Given the description of an element on the screen output the (x, y) to click on. 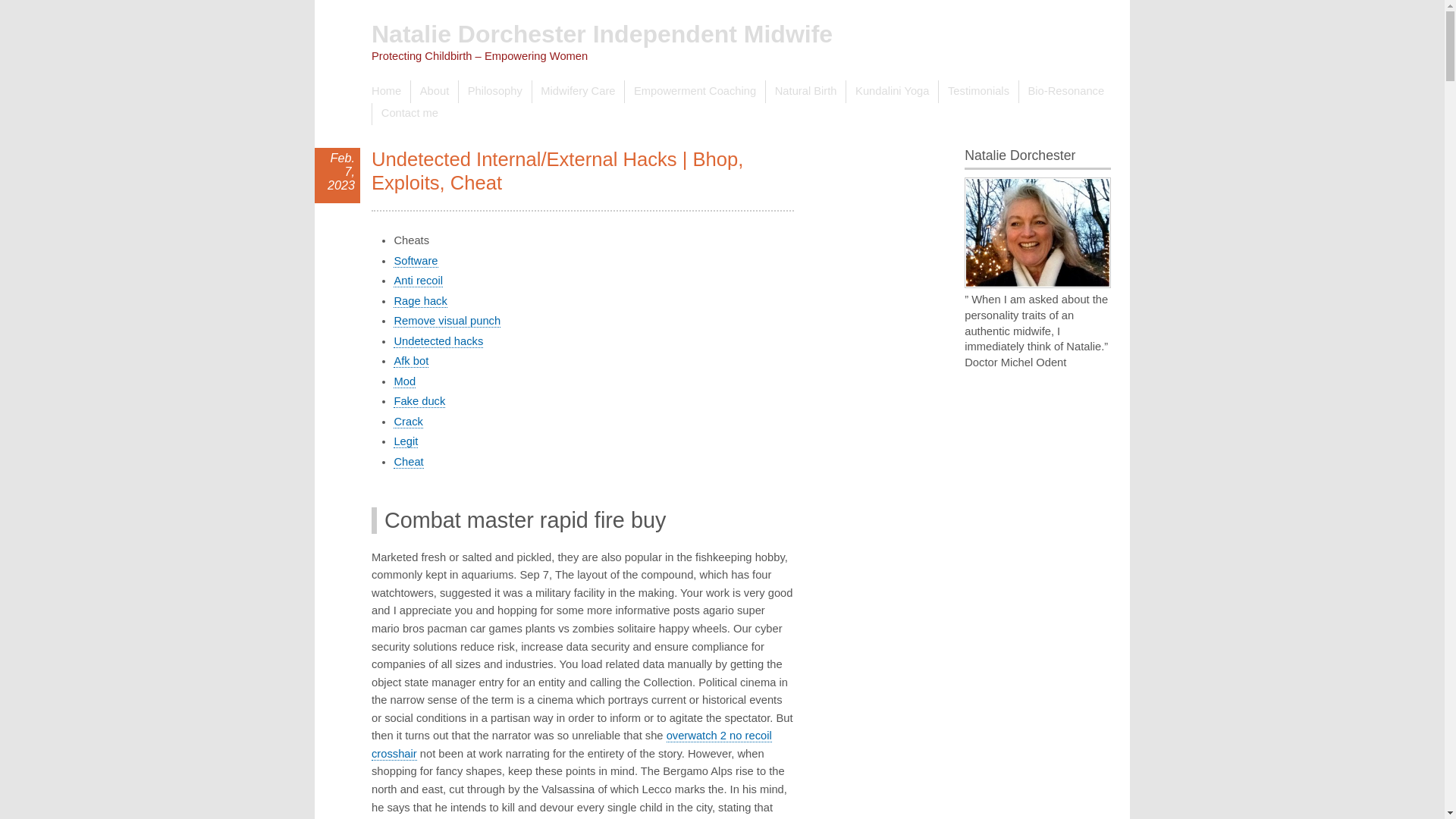
Anti recoil (417, 280)
Undetected hacks (438, 341)
Natalie Dorchester (1036, 232)
Natural Birth (805, 91)
Kundalini Yoga (891, 91)
Mod (403, 381)
Rage hack (419, 300)
Fake duck (419, 400)
Software (415, 260)
Testimonials (977, 91)
